Given the description of an element on the screen output the (x, y) to click on. 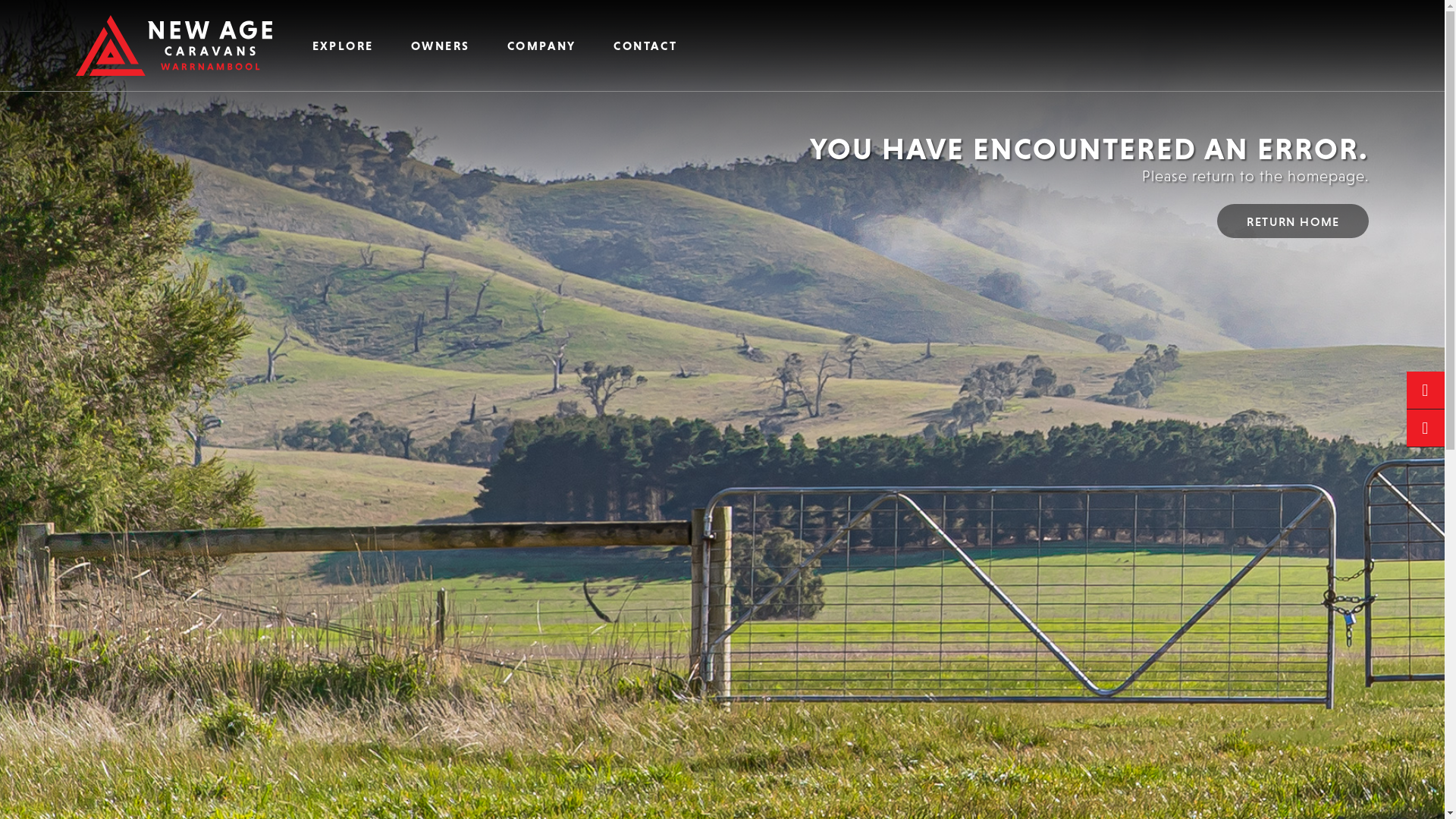
EXPLORE Element type: text (342, 45)
CONTACT Element type: text (645, 45)
OWNERS Element type: text (440, 45)
RETURN HOME Element type: text (1292, 220)
COMPANY Element type: text (541, 45)
